Given the description of an element on the screen output the (x, y) to click on. 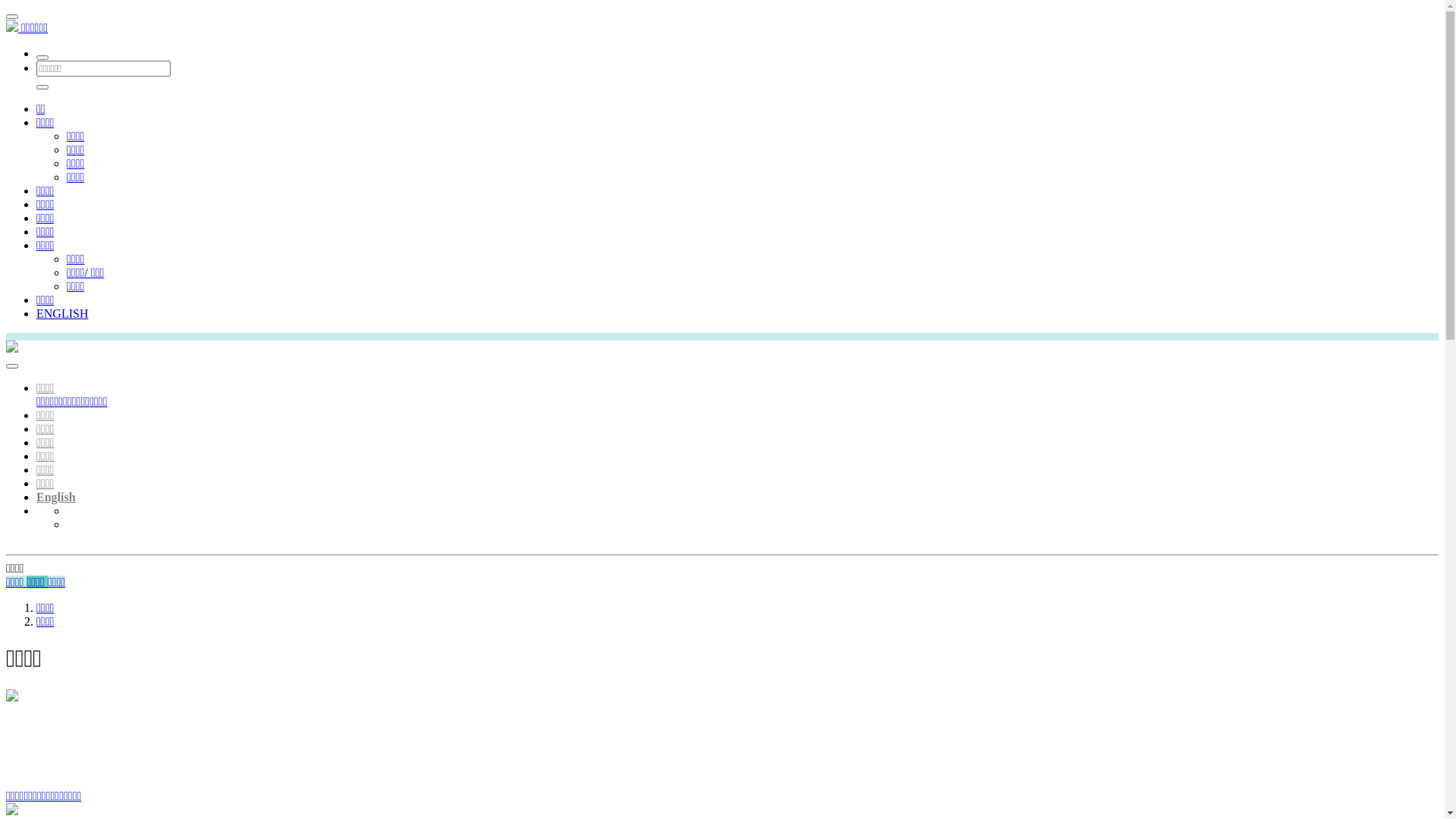
ENGLISH Element type: text (61, 313)
English Element type: text (55, 496)
